Given the description of an element on the screen output the (x, y) to click on. 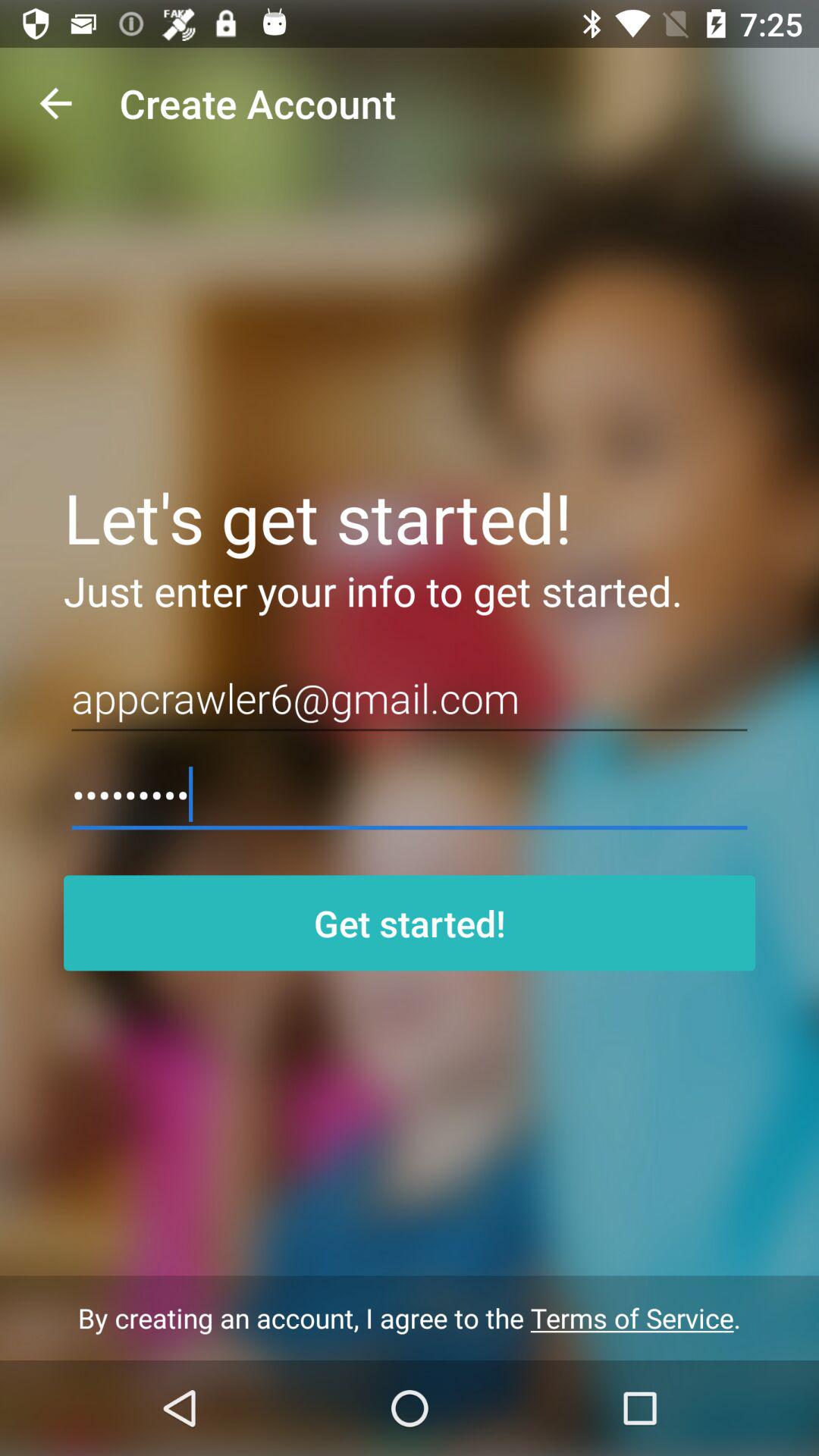
select icon above let s get (55, 103)
